Given the description of an element on the screen output the (x, y) to click on. 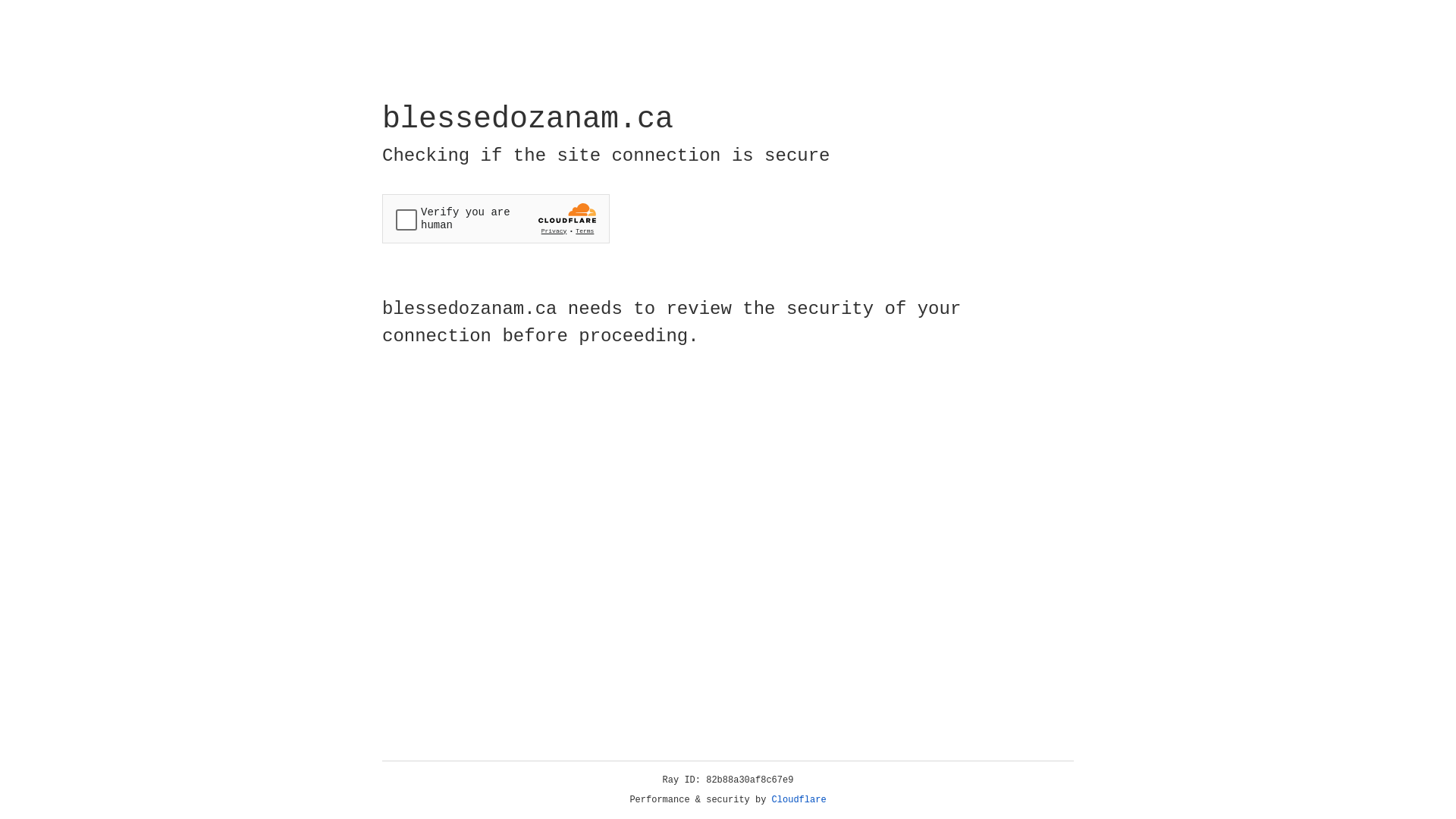
Cloudflare Element type: text (798, 799)
Widget containing a Cloudflare security challenge Element type: hover (495, 218)
